Given the description of an element on the screen output the (x, y) to click on. 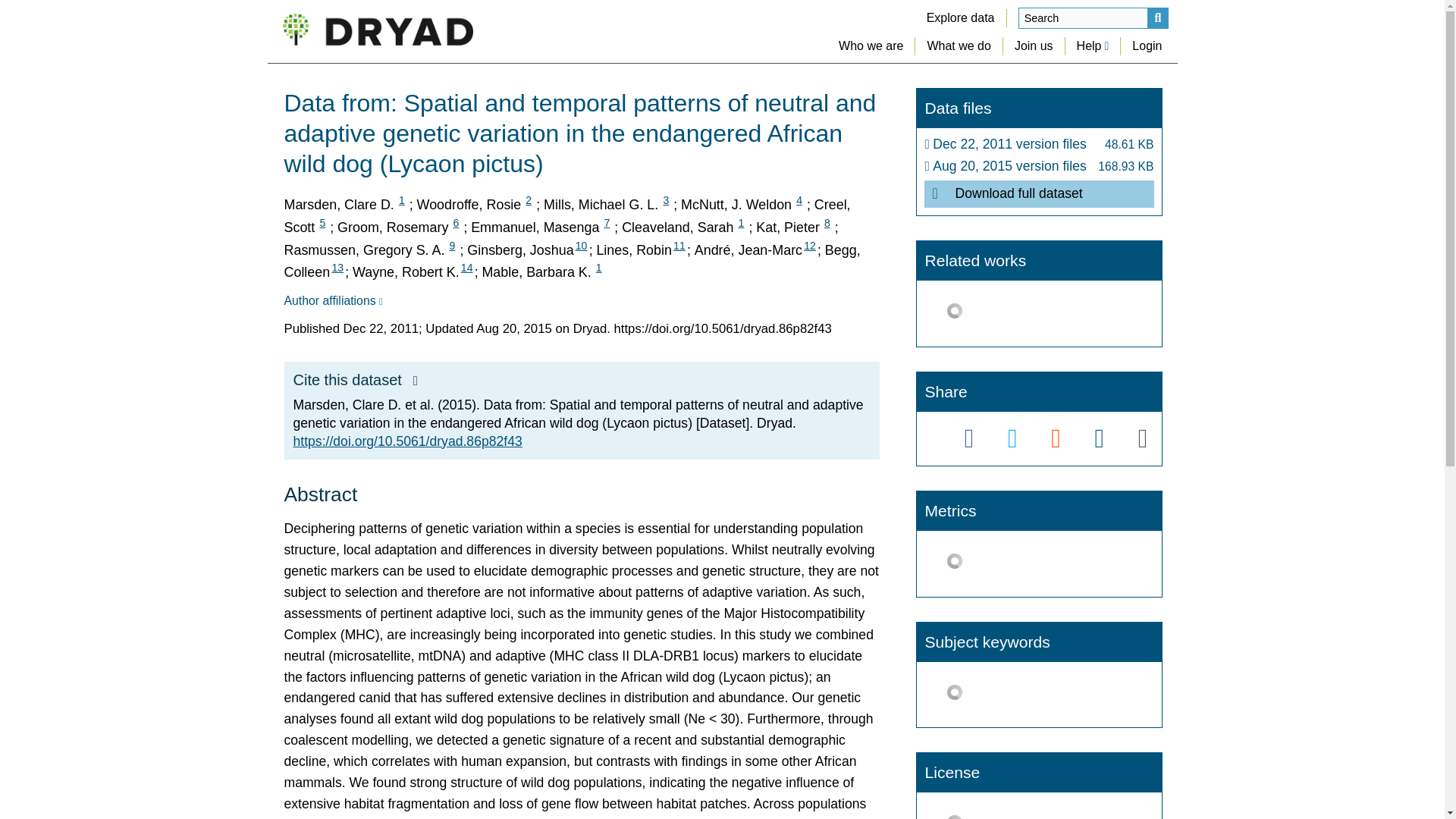
Who we are (870, 45)
Author affiliations (332, 300)
